Given the description of an element on the screen output the (x, y) to click on. 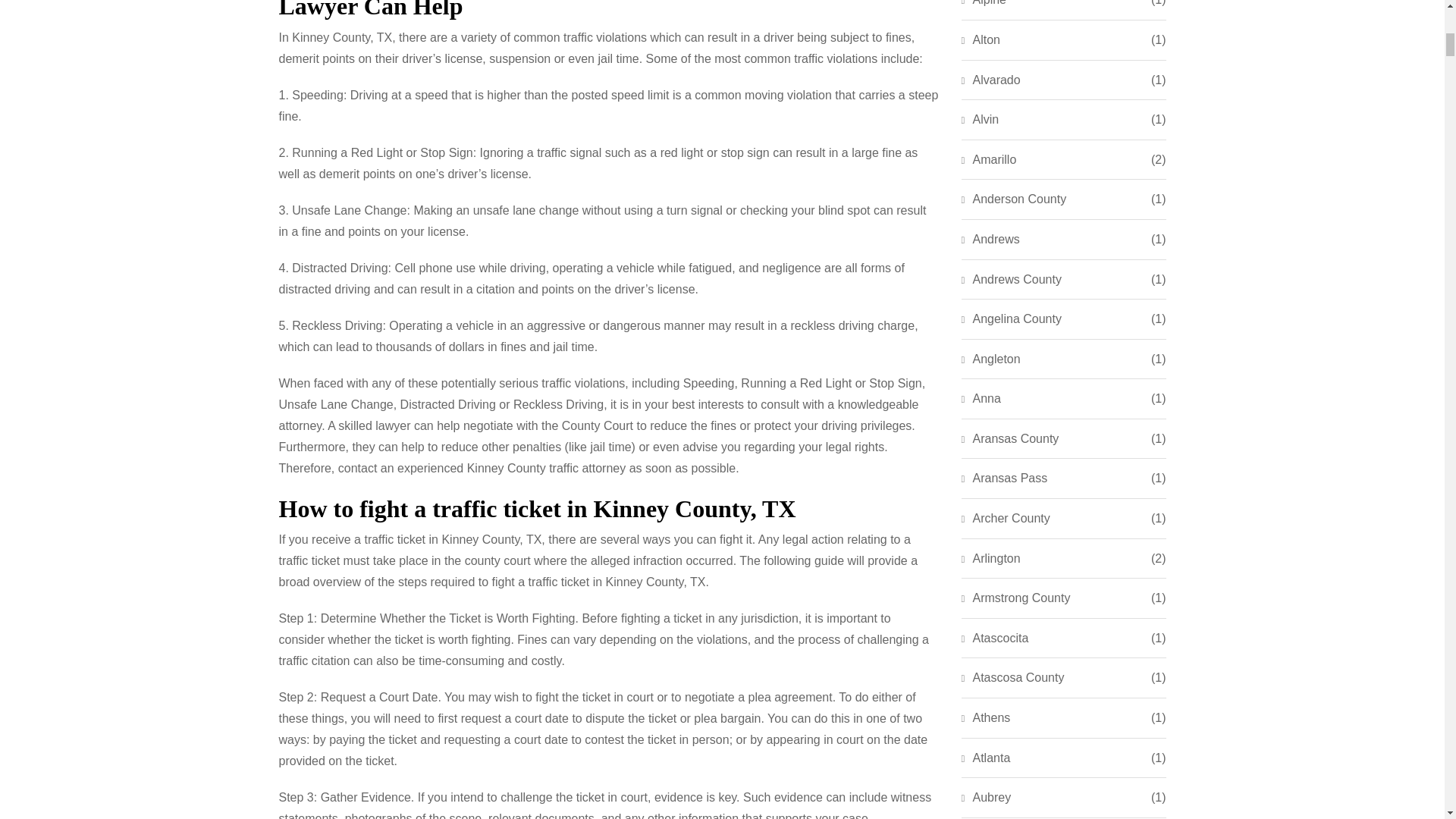
Alton (980, 39)
Alvarado (990, 80)
Alpine (983, 4)
Anderson County (1013, 199)
Andrews (990, 239)
Alvin (979, 119)
Amarillo (988, 159)
